Given the description of an element on the screen output the (x, y) to click on. 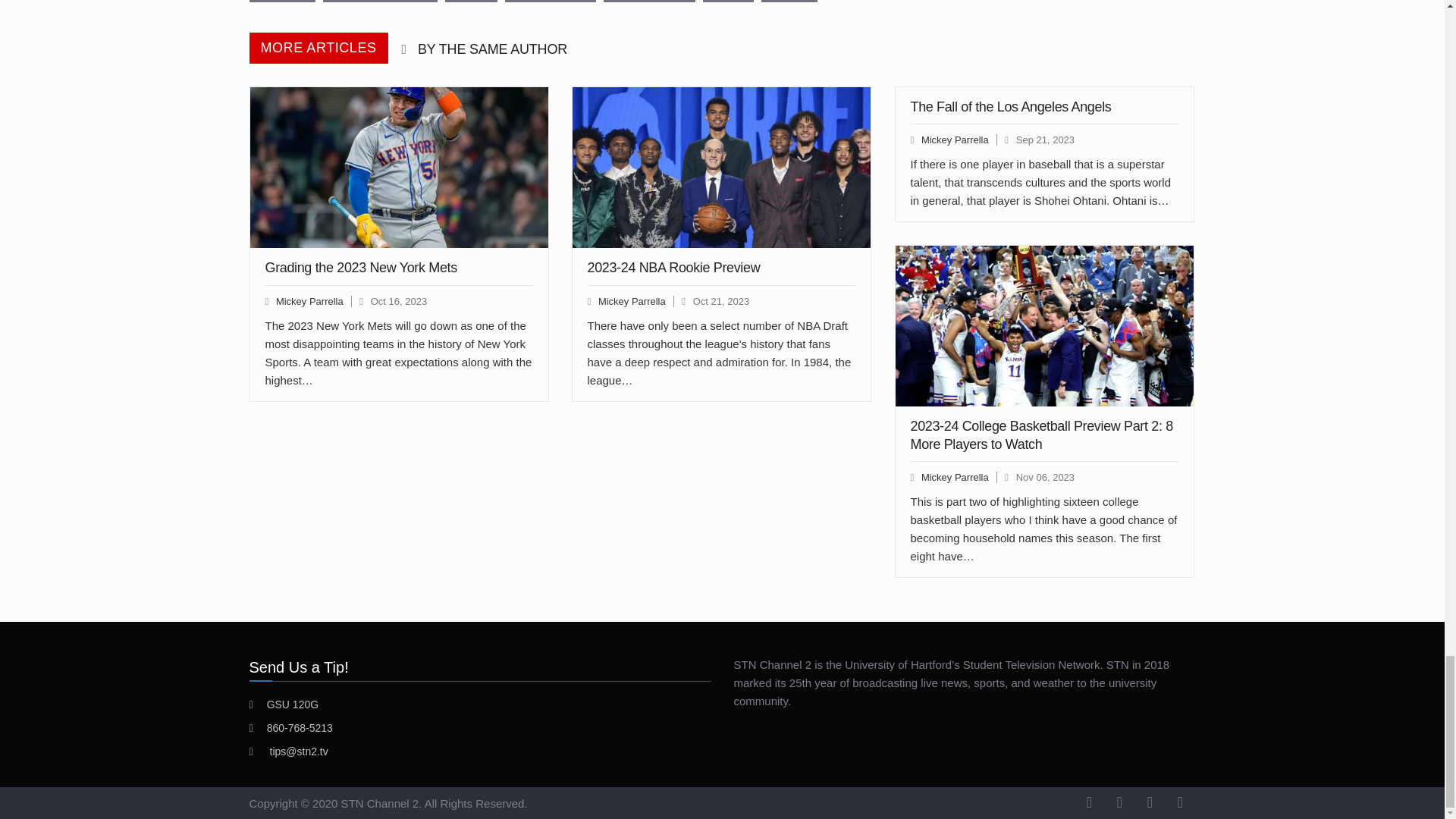
2023-24 NBA Rookie Preview (721, 167)
Grading the 2023 New York Mets (399, 167)
